Given the description of an element on the screen output the (x, y) to click on. 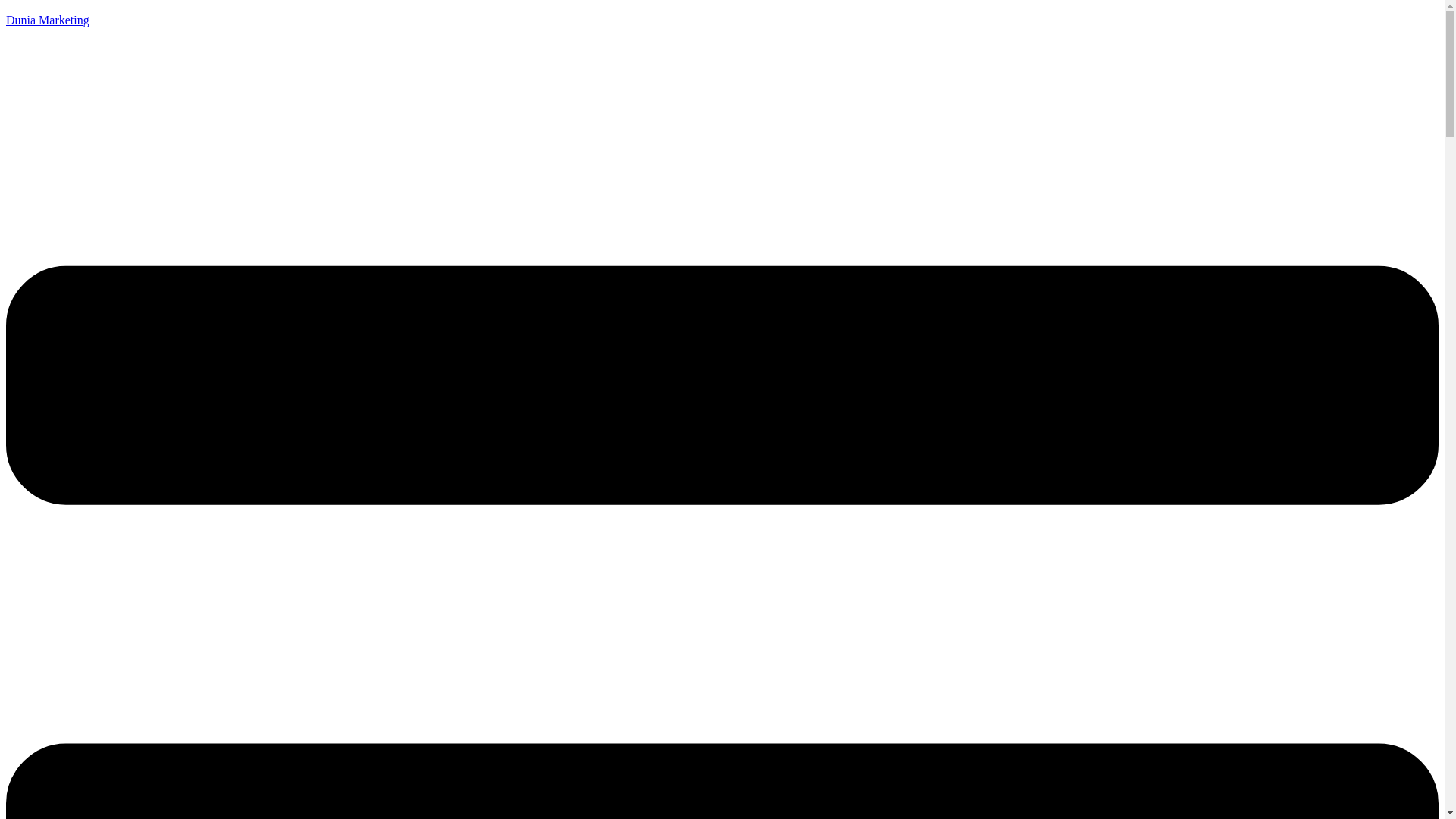
Skip to content Element type: text (5, 5)
Dunia Marketing Element type: text (47, 19)
